Given the description of an element on the screen output the (x, y) to click on. 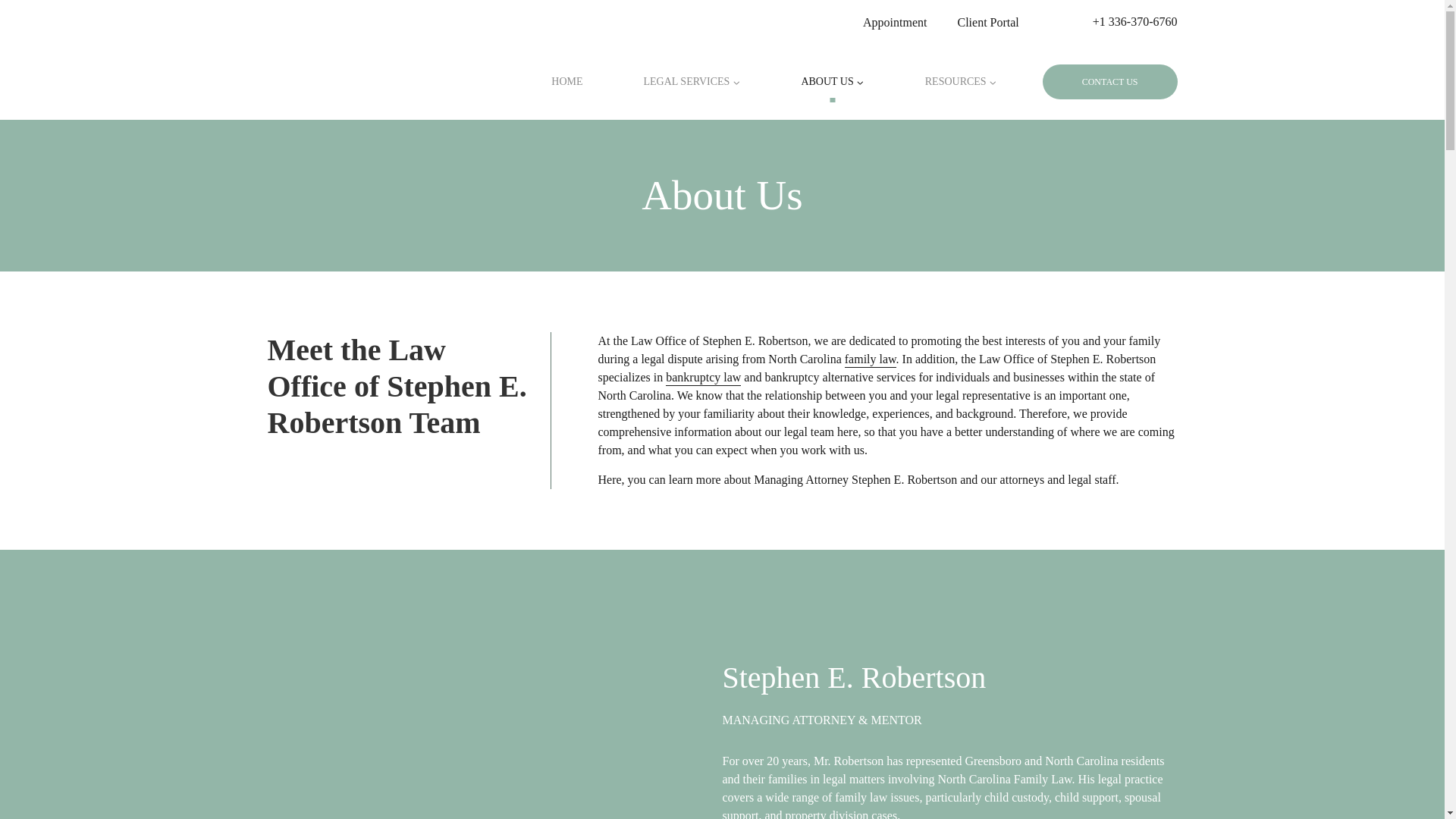
HOME (566, 81)
ABOUT US (831, 81)
family law (870, 359)
RESOURCES (961, 81)
CONTACT US (1109, 81)
LEGAL SERVICES (691, 81)
bankruptcy law (703, 378)
Client Portal (987, 21)
Appointment (894, 21)
